Given the description of an element on the screen output the (x, y) to click on. 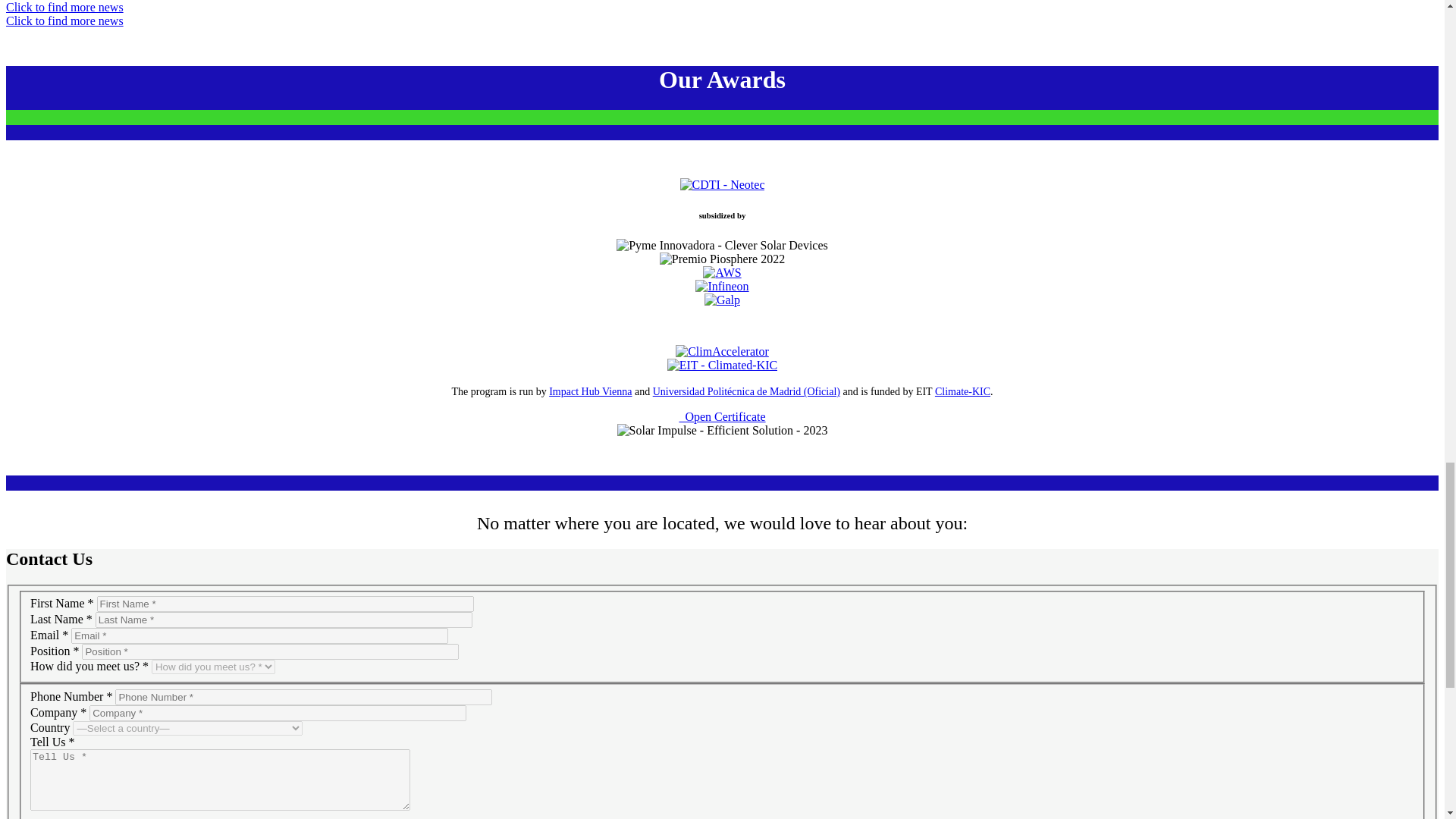
Infineon (721, 286)
Solar Impulse - Efficient Solution - 2023 (722, 430)
Click to find more news (64, 6)
Click to find more news (64, 20)
AWS (722, 273)
Pyme Innovadora - Clever Solar Devices (721, 245)
EIT - Climated-KIC (721, 365)
ClimAccelerator (721, 351)
CDTI - Neotec (722, 184)
Premio Piosphere 2022 (721, 259)
